Given the description of an element on the screen output the (x, y) to click on. 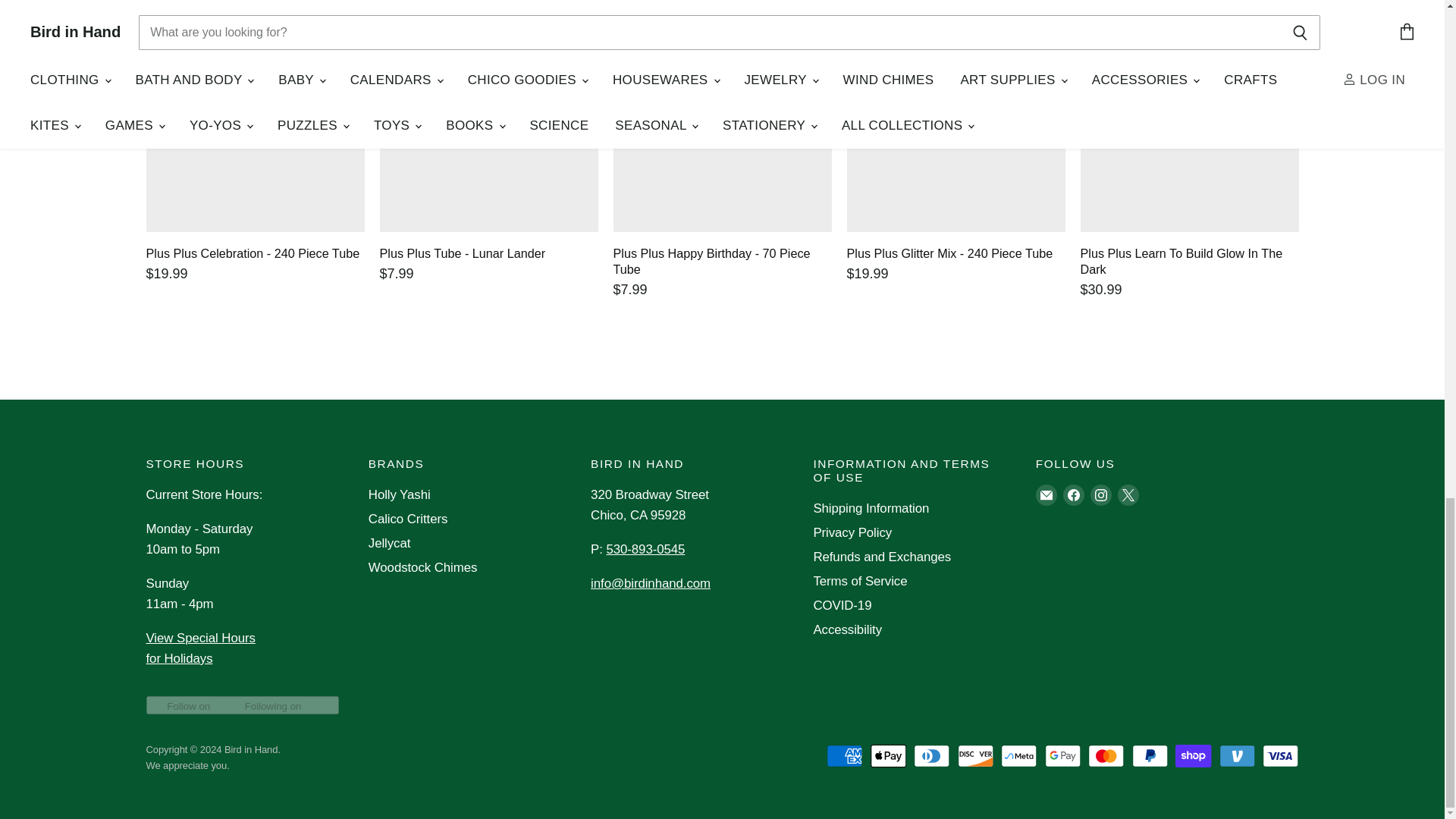
Instagram (1101, 494)
Seasonal and Holiday Store Hours (199, 647)
Call 530-893-0545 (644, 549)
Facebook (1073, 494)
E-mail (1045, 494)
X (1128, 494)
